Given the description of an element on the screen output the (x, y) to click on. 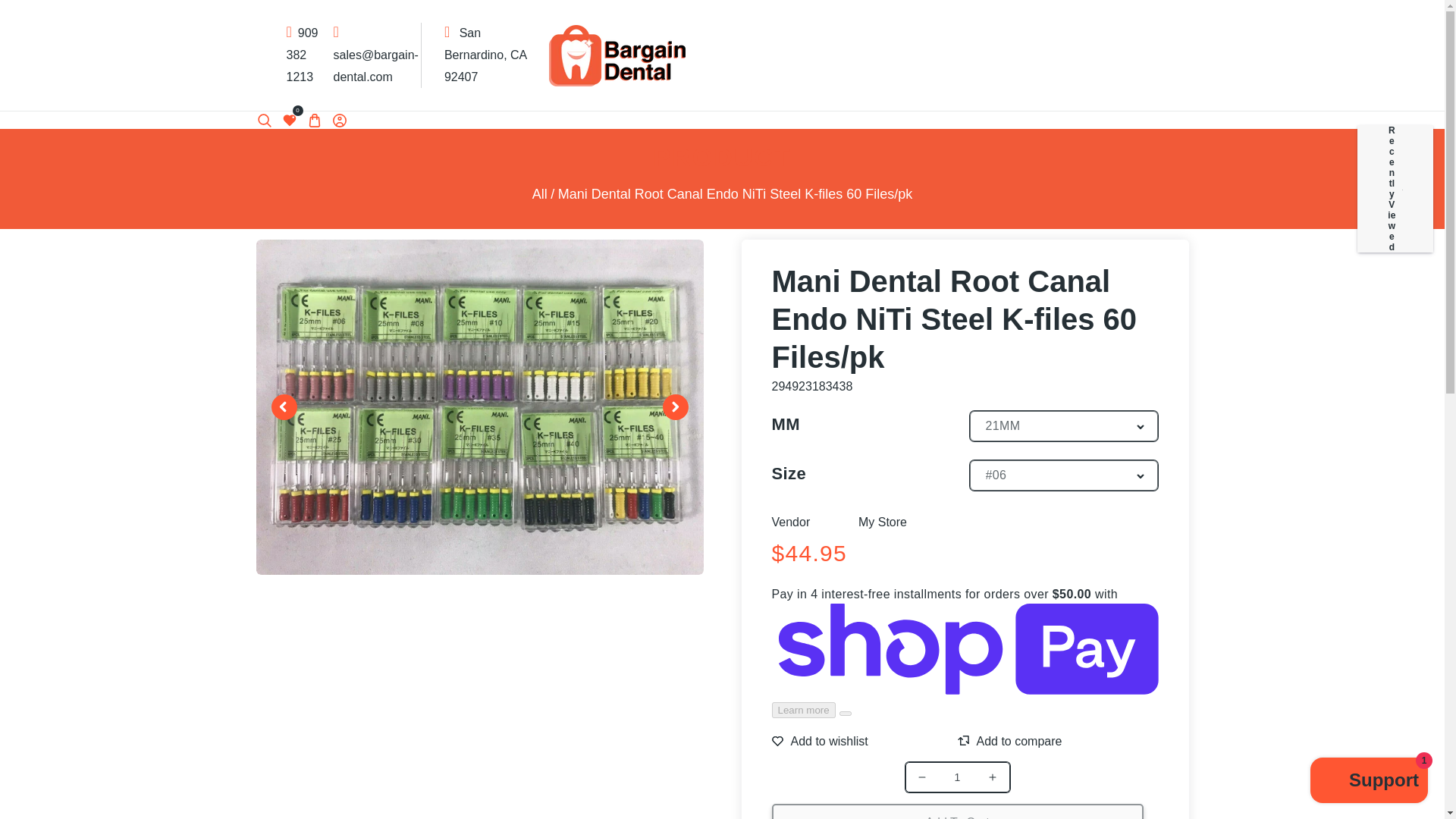
Shopify online store chat (1369, 781)
San Bernardino, CA 92407 (485, 54)
Skip To Content (21, 18)
1 (957, 777)
My Store (883, 521)
